Given the description of an element on the screen output the (x, y) to click on. 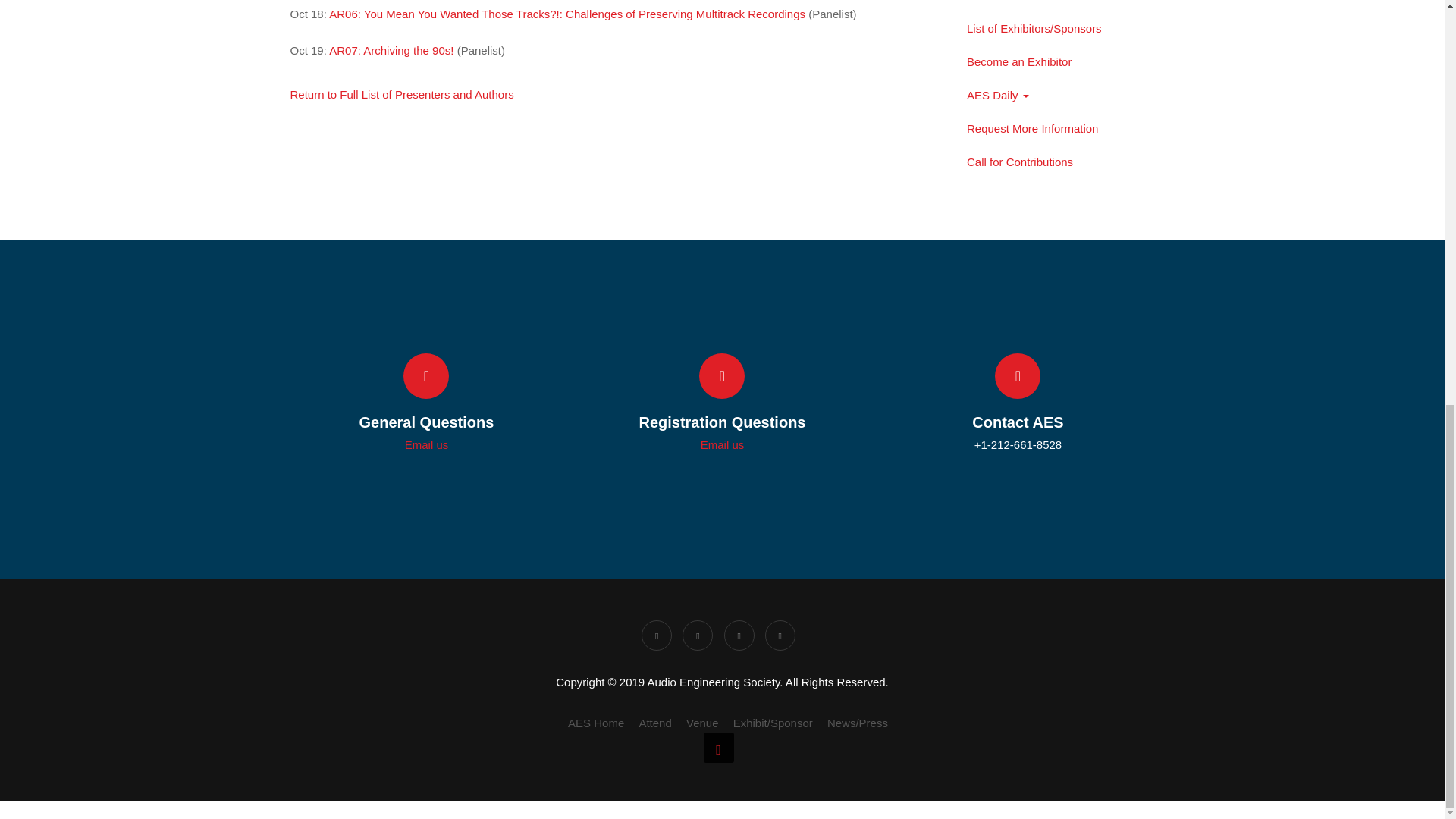
Back to Top (718, 747)
